Given the description of an element on the screen output the (x, y) to click on. 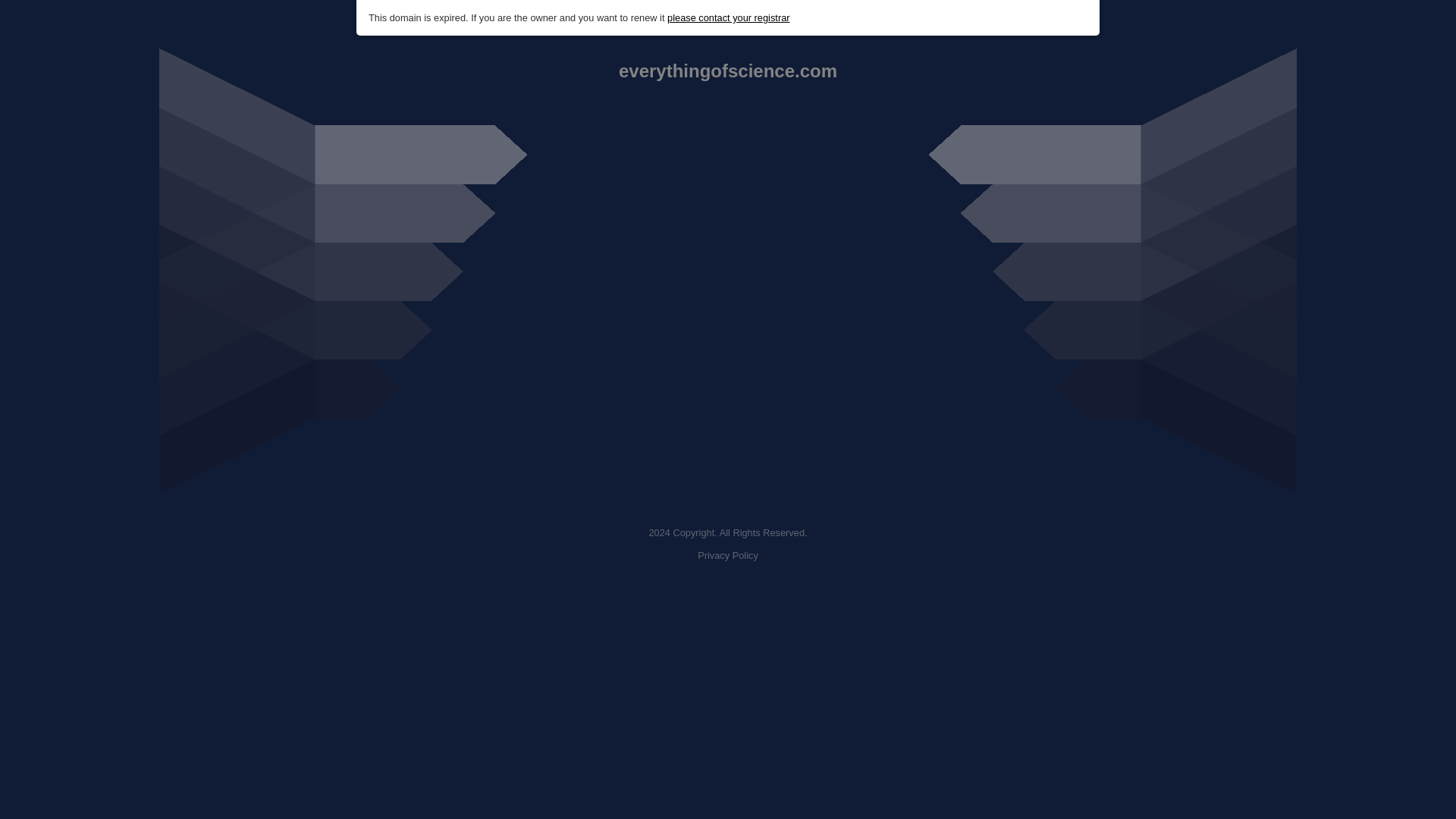
Privacy Policy (727, 555)
please contact your registrar (727, 17)
